Given the description of an element on the screen output the (x, y) to click on. 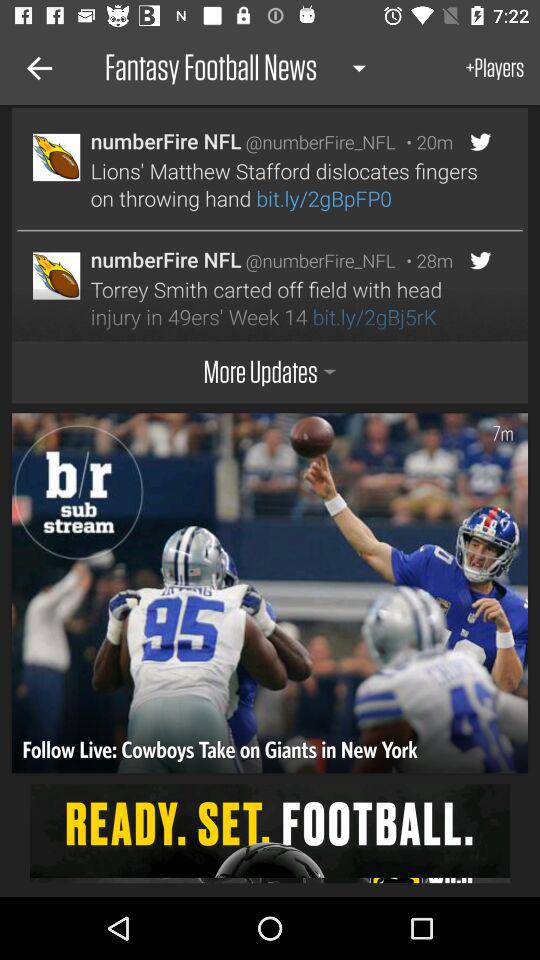
flip to the lions matthew stafford (287, 184)
